Given the description of an element on the screen output the (x, y) to click on. 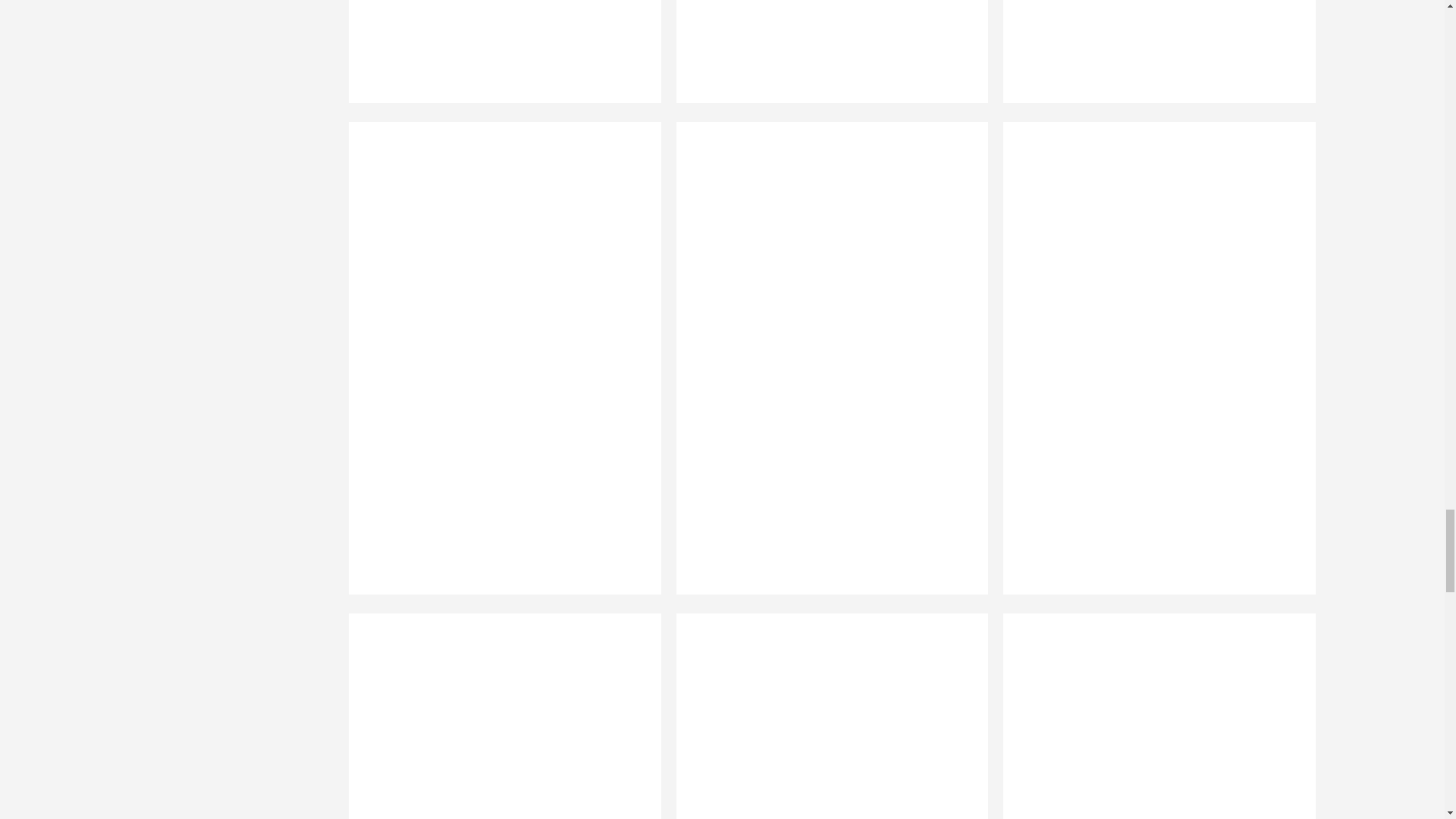
0 (824, 716)
0 (1152, 61)
0 (497, 716)
0 (1152, 716)
0 (497, 61)
0 (824, 61)
